Given the description of an element on the screen output the (x, y) to click on. 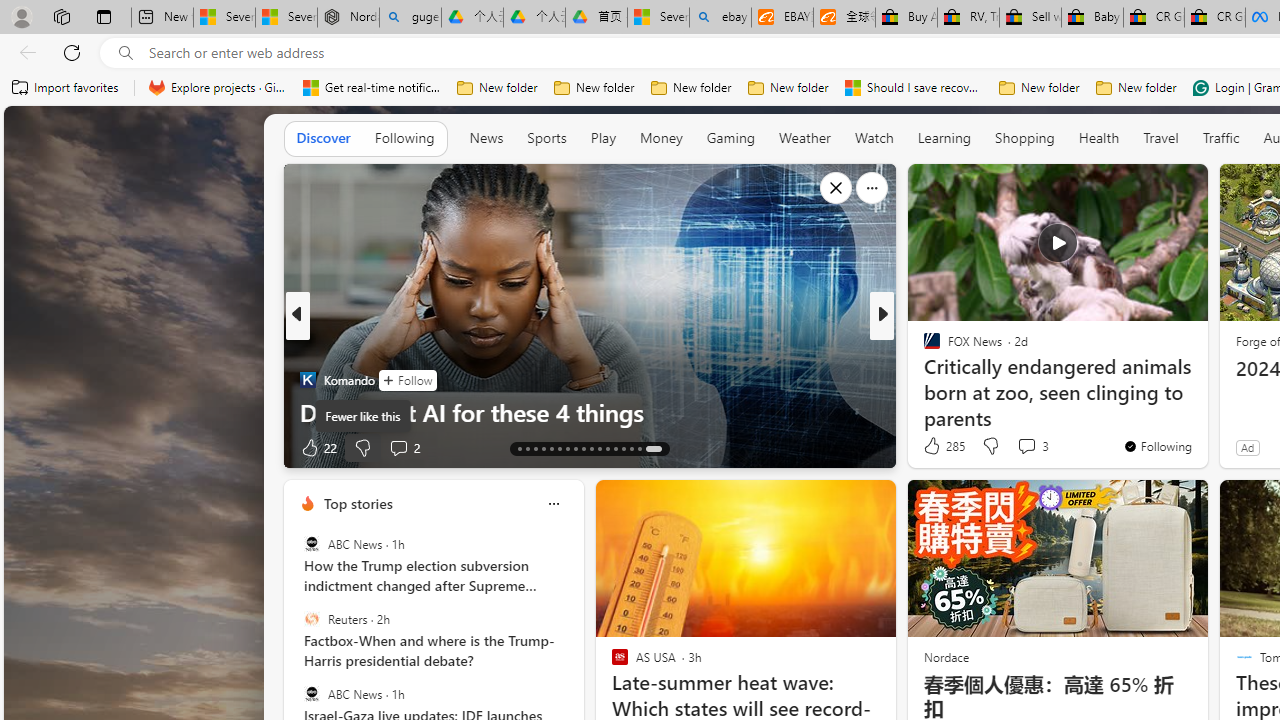
Sell worldwide with eBay (1030, 17)
Shopping (1025, 138)
guge yunpan - Search (410, 17)
Travel (1160, 138)
Learning (944, 138)
Sports (546, 137)
AutomationID: tab-15 (535, 448)
